Given the description of an element on the screen output the (x, y) to click on. 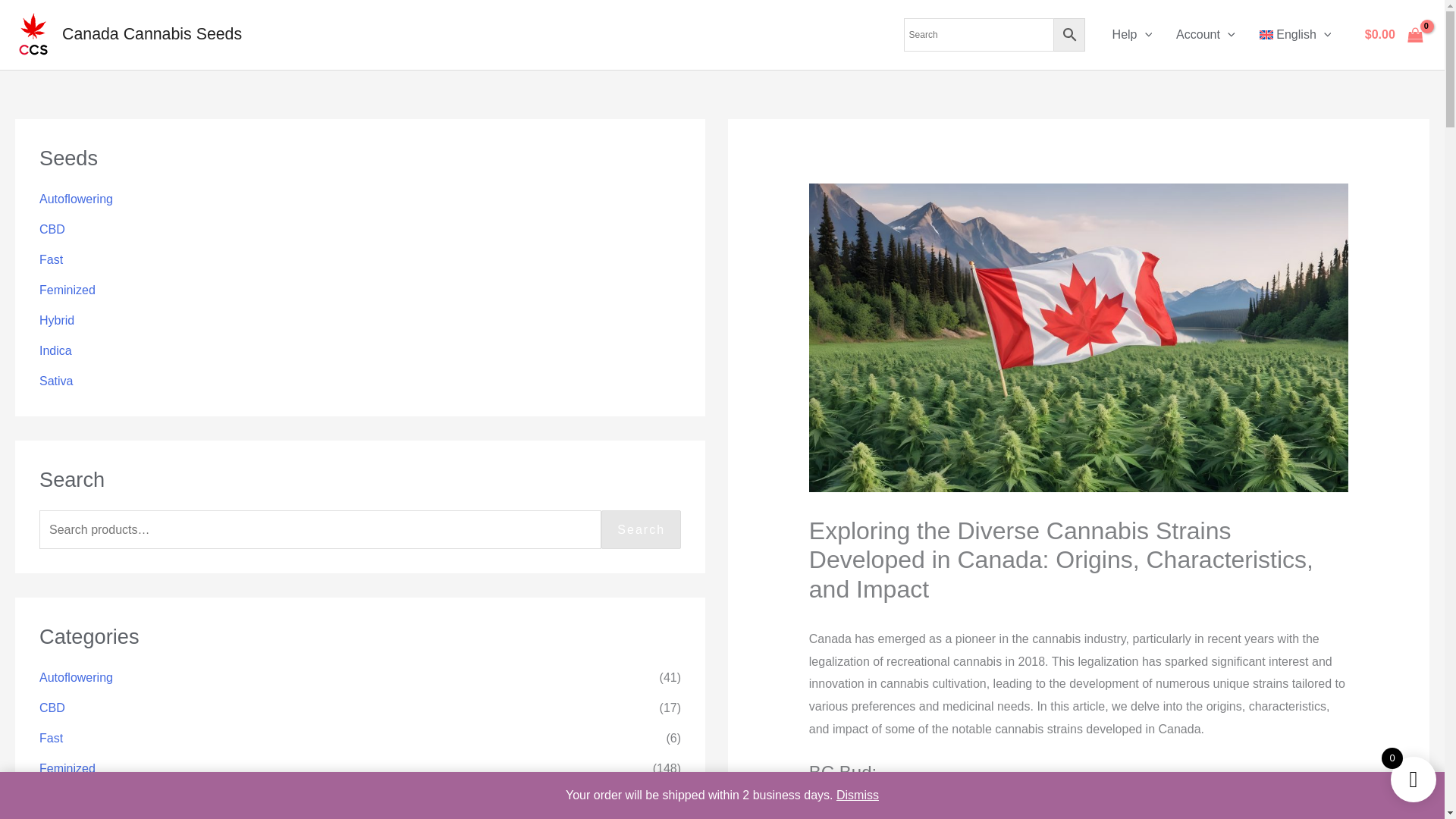
Account (1204, 34)
English (1294, 34)
Canada Cannabis Seeds (151, 34)
Feminized (67, 289)
Autoflowering (76, 198)
Help (1132, 34)
CBD (52, 228)
English (1294, 34)
Fast (50, 259)
Indica (55, 350)
Hybrid (56, 319)
